Given the description of an element on the screen output the (x, y) to click on. 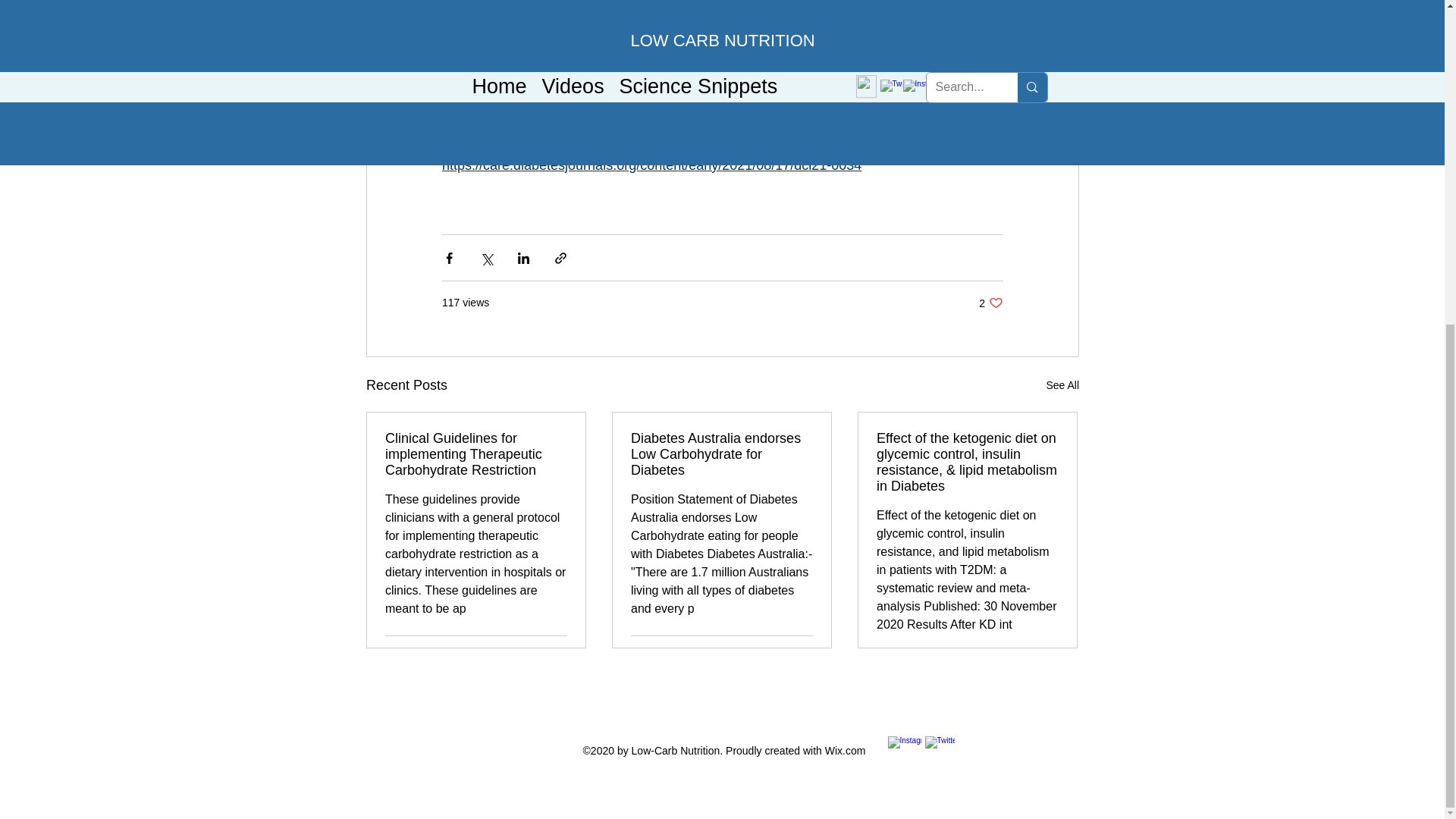
1 like. Post not marked as liked (800, 654)
Diabetes Australia endorses Low Carbohydrate for Diabetes (990, 302)
See All (721, 454)
2 likes. Post not marked as liked (1061, 385)
